Given the description of an element on the screen output the (x, y) to click on. 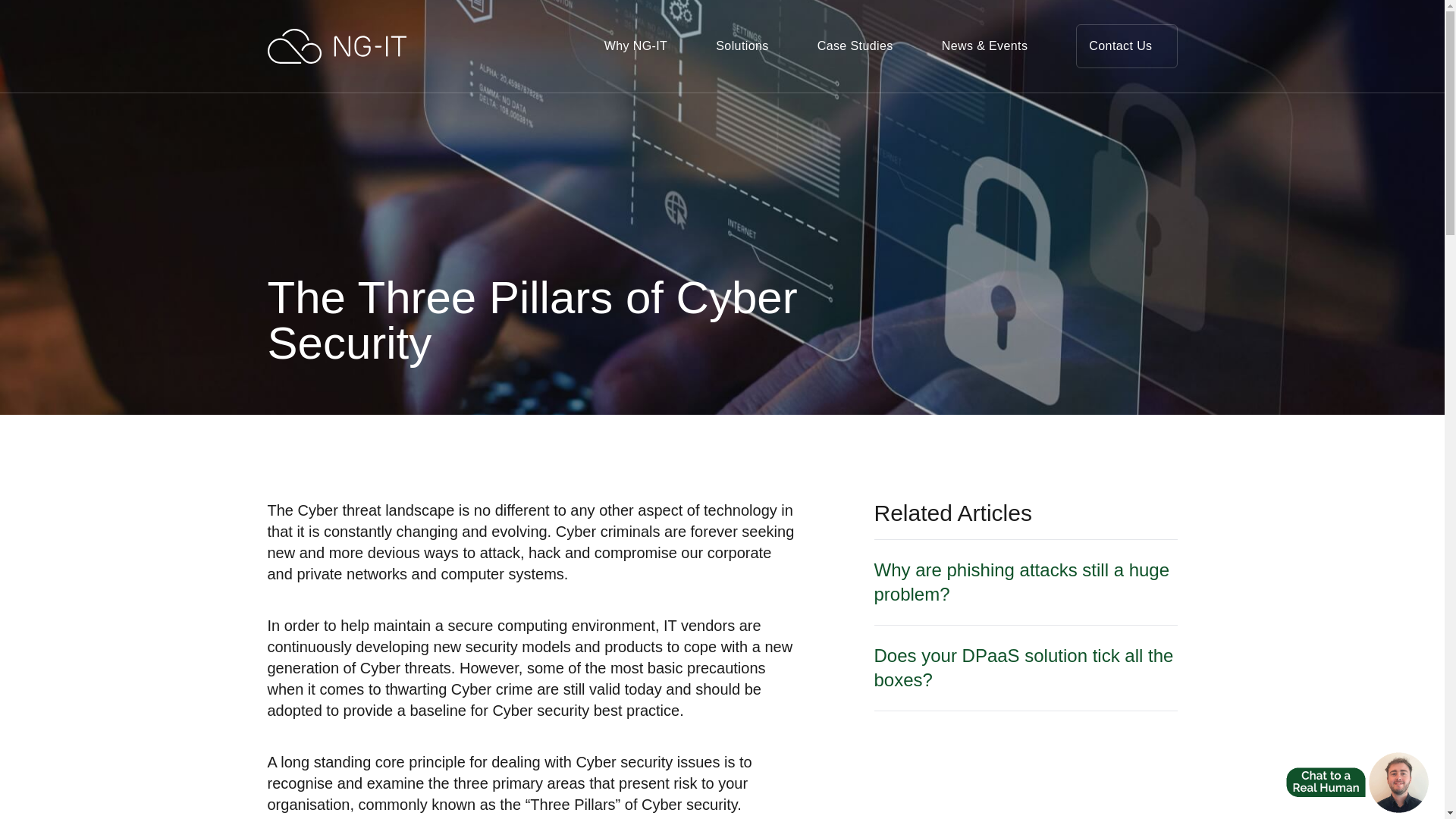
Does your DPaaS solution tick all the boxes? (1024, 667)
Case Studies (854, 45)
Why are phishing attacks still a huge problem? (1024, 581)
Solutions (742, 45)
Contact Us (1125, 45)
Why NG-IT (636, 45)
